Given the description of an element on the screen output the (x, y) to click on. 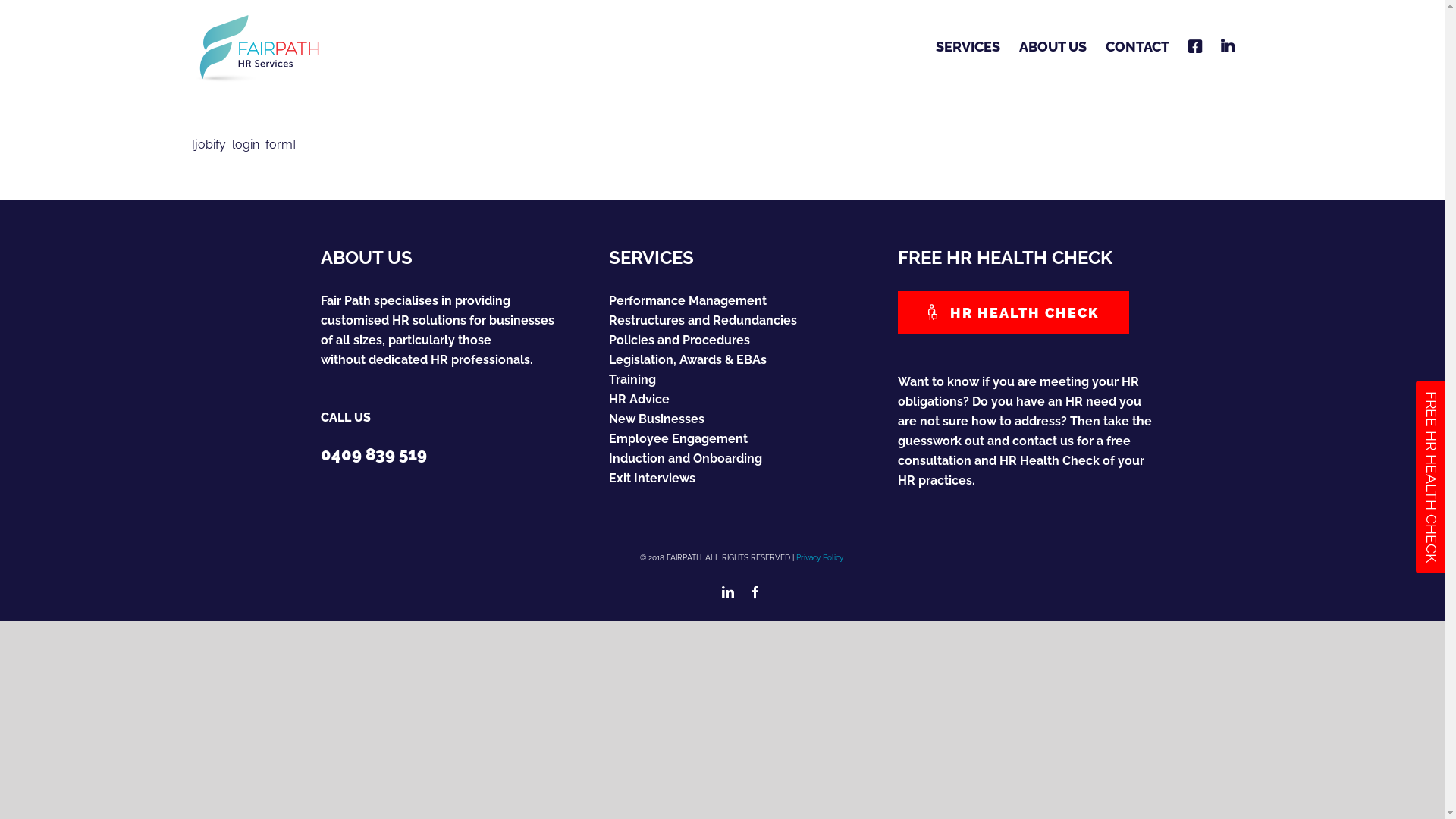
Induction and Onboarding Element type: text (740, 458)
Facebook Element type: text (755, 592)
SERVICES Element type: text (967, 46)
New Businesses Element type: text (740, 419)
Privacy Policy Element type: text (819, 557)
Exit Interviews Element type: text (740, 478)
HR Advice Element type: text (740, 399)
HR HEALTH CHECK Element type: text (1013, 312)
ABOUT US Element type: text (1052, 46)
Policies and Procedures Element type: text (740, 340)
CONTACT Element type: text (1137, 46)
Training Element type: text (740, 379)
LinkedIn Element type: text (727, 592)
Employee Engagement Element type: text (740, 438)
Restructures and Redundancies Element type: text (740, 320)
Legislation, Awards & EBAs Element type: text (740, 360)
Performance Management Element type: text (740, 300)
